Given the description of an element on the screen output the (x, y) to click on. 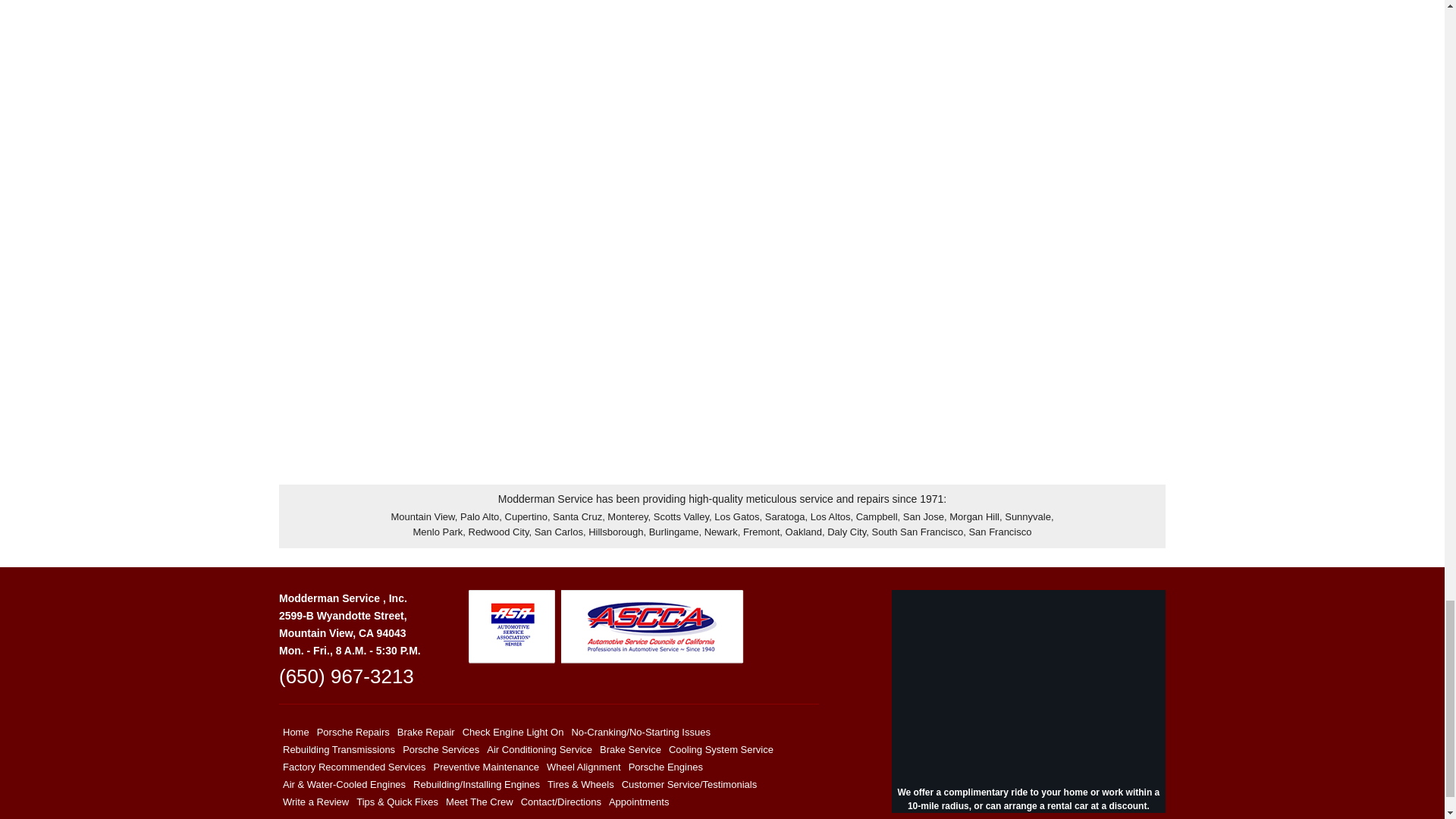
Porsche Services (440, 749)
Brake Service (630, 749)
Check Engine Light On (512, 732)
Home (296, 732)
Porsche Repairs (353, 732)
Brake Repair (425, 732)
Rebuilding Transmissions (338, 749)
Air Conditioning Service (539, 749)
